Given the description of an element on the screen output the (x, y) to click on. 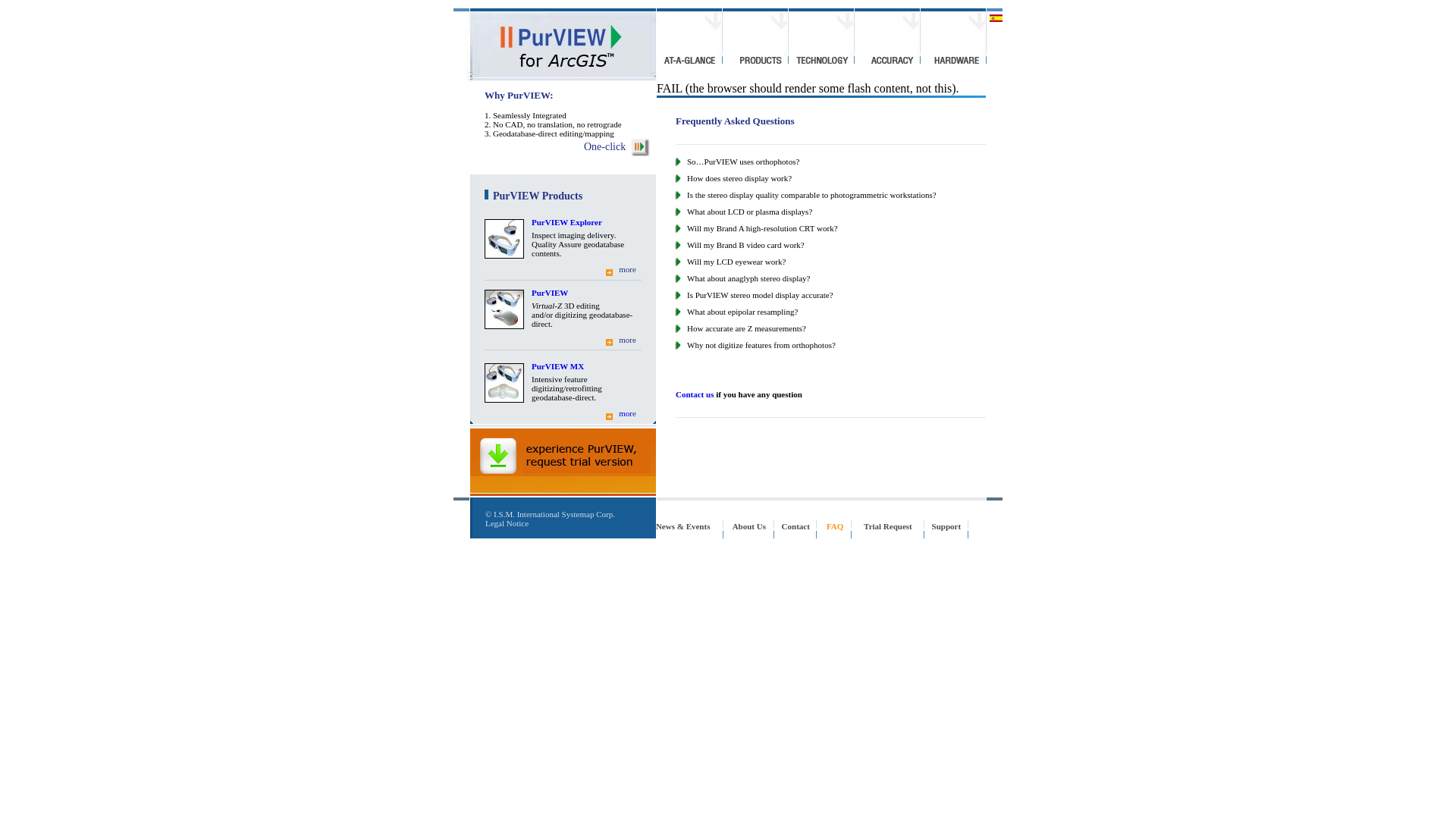
Why not digitize features from orthophotos? (753, 344)
Is PurVIEW stereo model display accurate? (751, 294)
About Us (748, 525)
Contact us (694, 393)
What about epipolar resampling? (734, 311)
Legal Notice (506, 522)
Trial Request (887, 525)
One-click (604, 146)
How accurate are Z measurements? (738, 327)
What about anaglyph stereo display? (740, 277)
Support (945, 525)
PurVIEW MX (557, 366)
more (626, 268)
PurVIEW (549, 292)
